Given the description of an element on the screen output the (x, y) to click on. 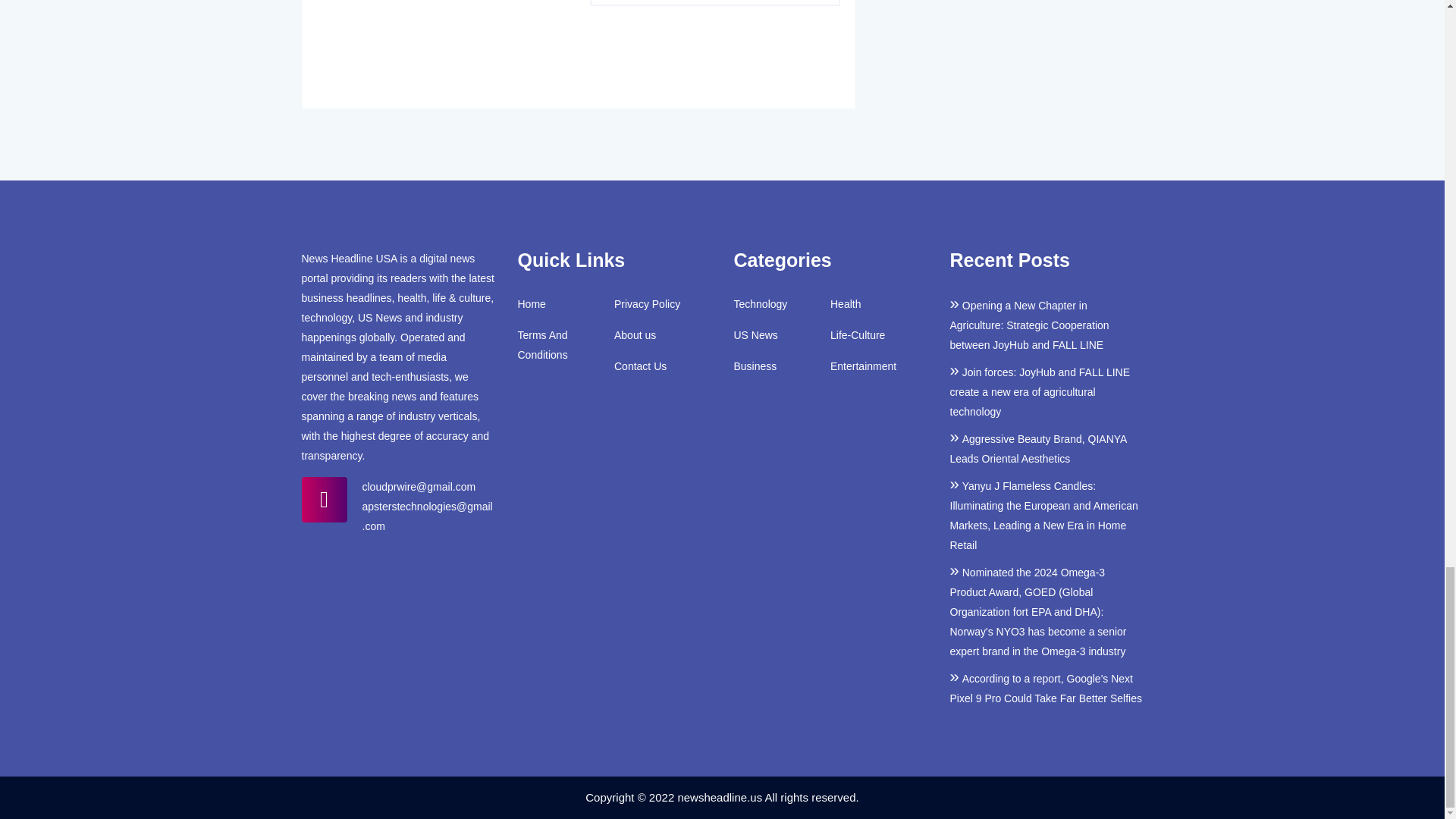
Home (530, 303)
